Given the description of an element on the screen output the (x, y) to click on. 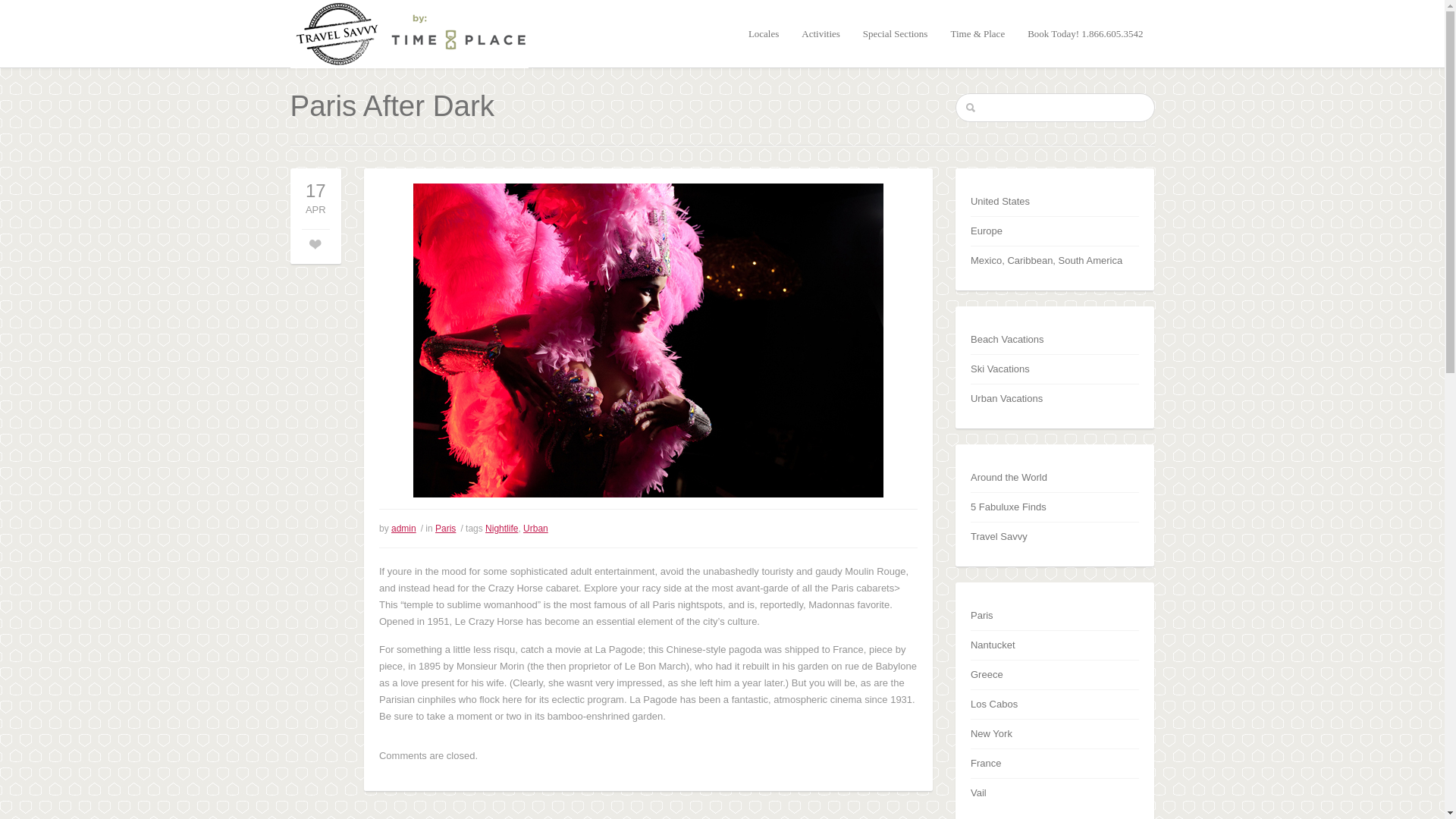
Paris (445, 528)
Ski Vacations (1000, 368)
Paris (981, 614)
Travel Savvy (999, 536)
United States (1000, 201)
5 Fabuluxe Finds (1008, 506)
Locales (763, 33)
Around the World (1008, 477)
Posts by admin (403, 528)
Urban (535, 528)
Mexico, Caribbean, South America (1046, 260)
Special Sections (896, 33)
Nantucket (992, 644)
admin (403, 528)
Beach Vacations (1007, 338)
